Given the description of an element on the screen output the (x, y) to click on. 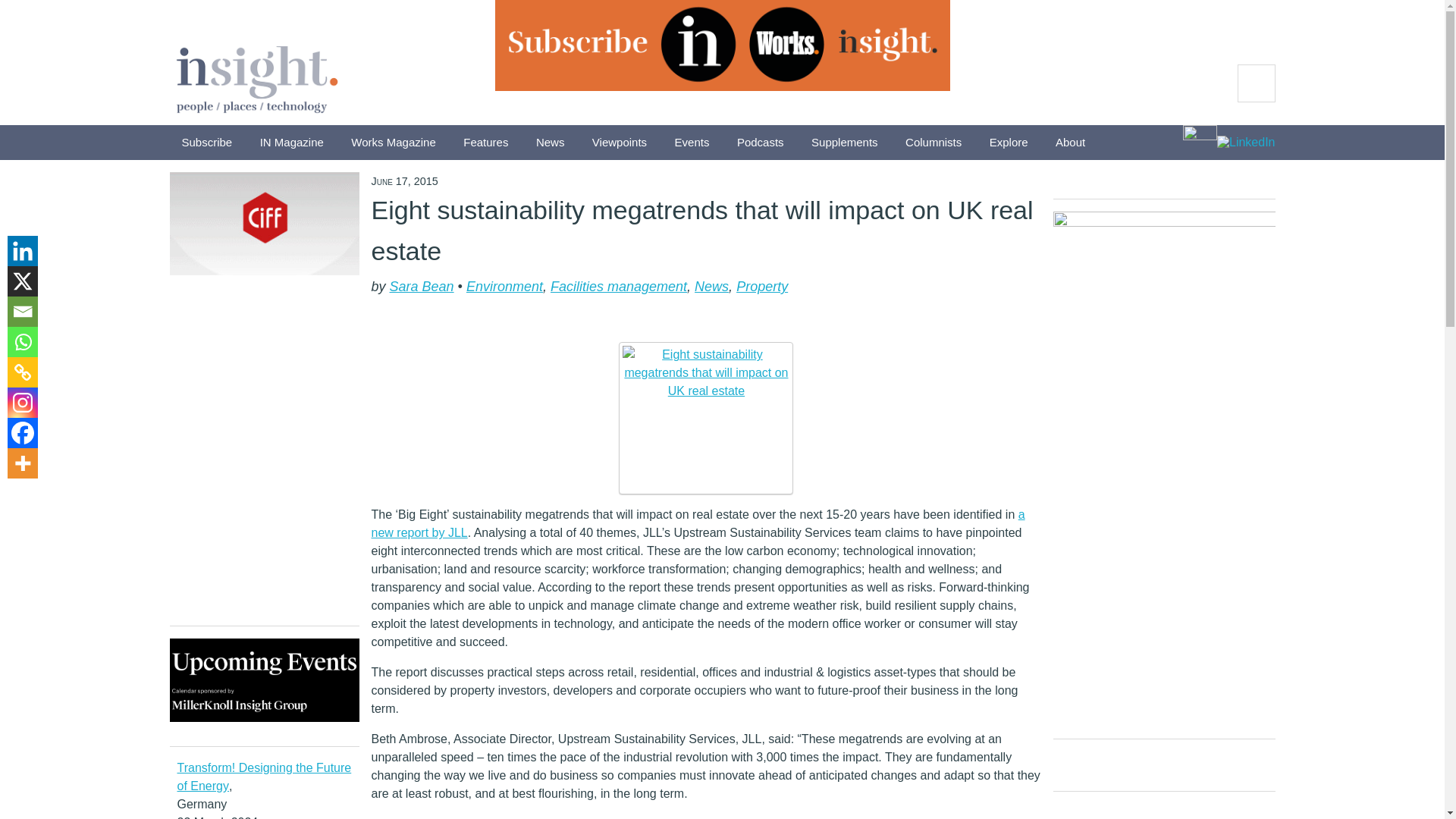
X (22, 281)
Columnists (933, 142)
Events (692, 142)
About (1070, 142)
GO (1256, 83)
Podcasts (760, 142)
Linkedin (22, 250)
News (550, 142)
LinkedIn (1246, 142)
GO (1256, 83)
